Given the description of an element on the screen output the (x, y) to click on. 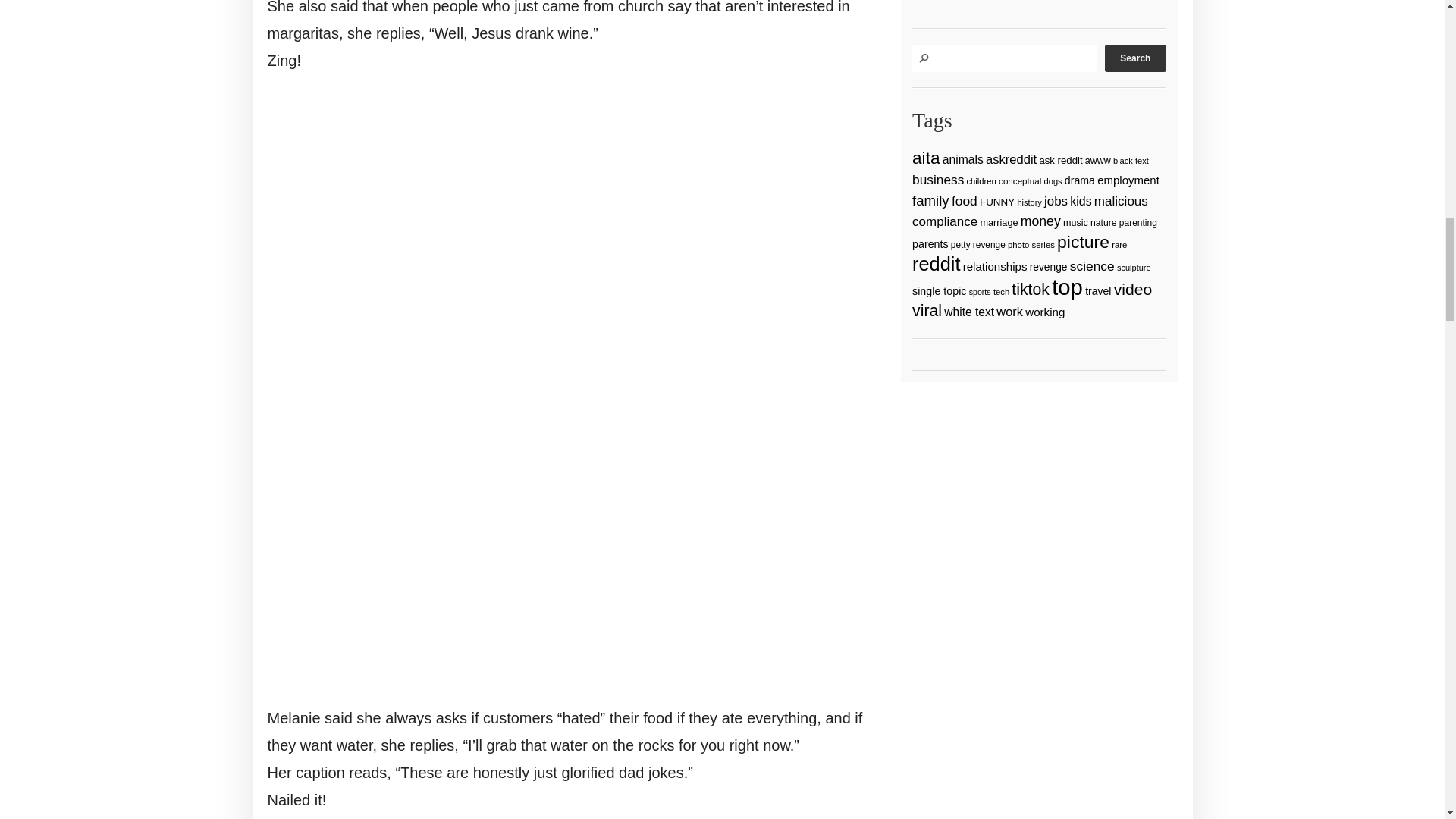
Search (1135, 58)
